Given the description of an element on the screen output the (x, y) to click on. 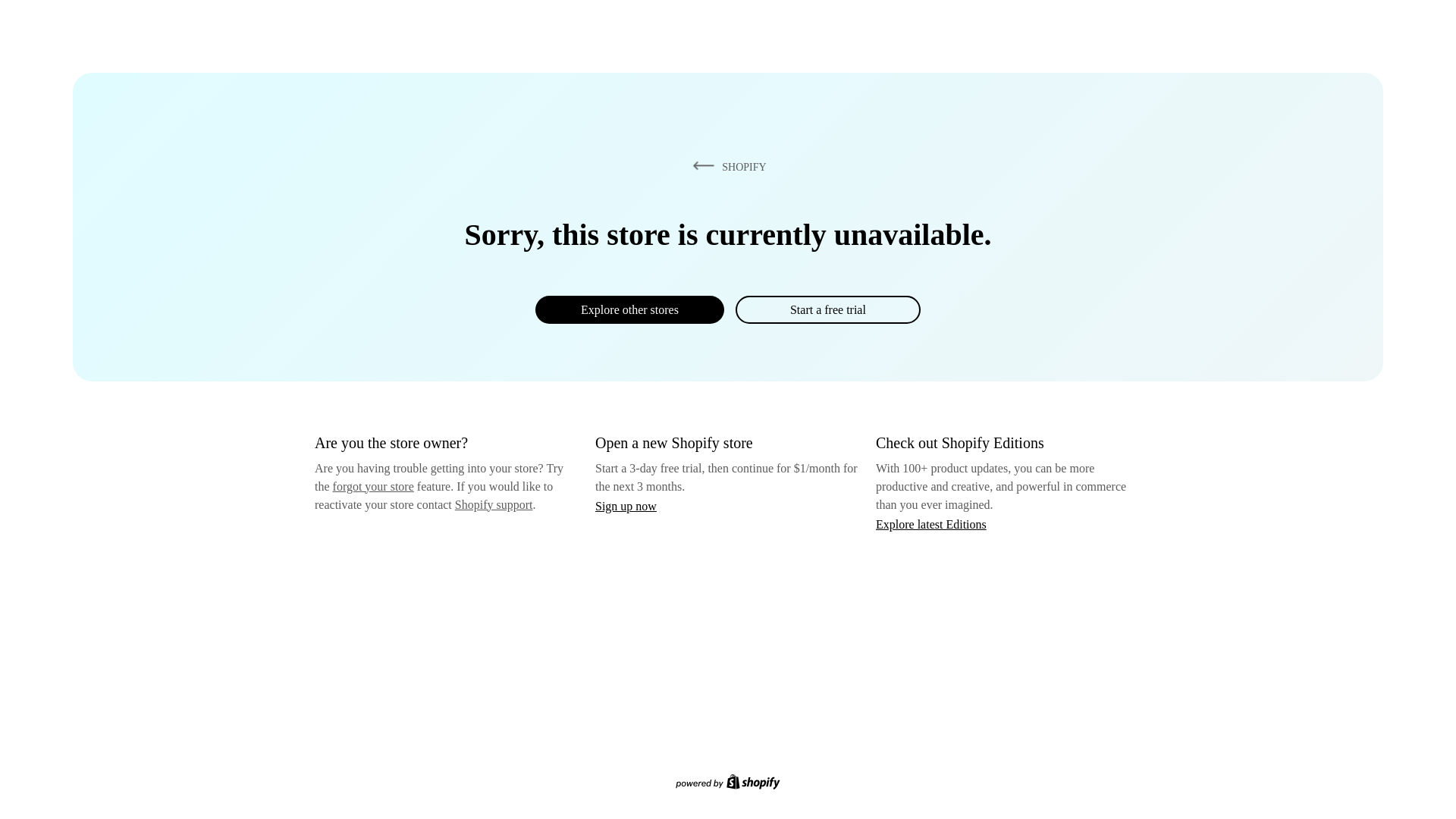
Sign up now (625, 505)
Explore latest Editions (931, 523)
Explore other stores (629, 309)
SHOPIFY (726, 166)
Shopify support (493, 504)
forgot your store (373, 486)
Start a free trial (827, 309)
